Given the description of an element on the screen output the (x, y) to click on. 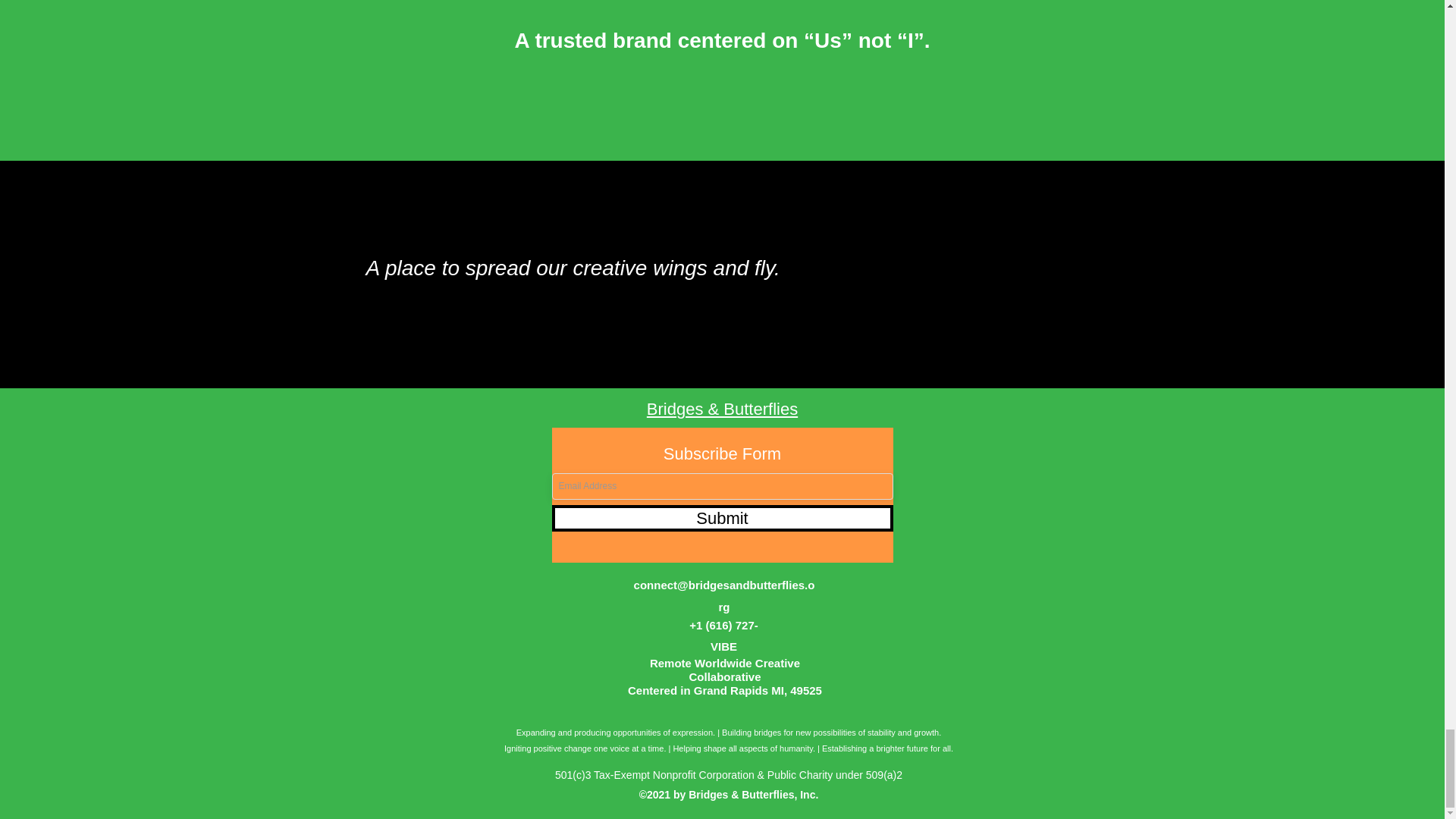
Submit (722, 518)
